Given the description of an element on the screen output the (x, y) to click on. 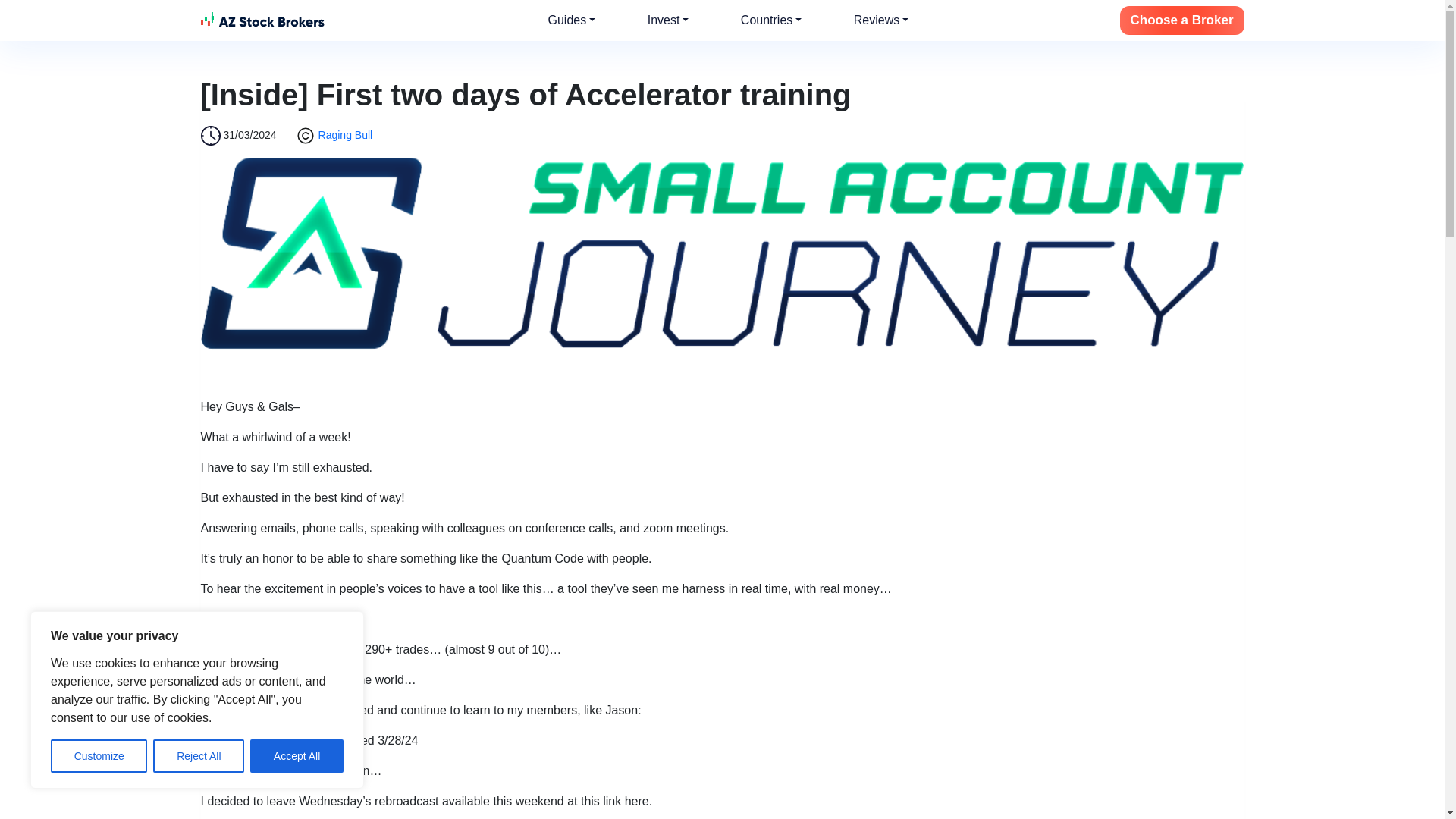
Reject All (198, 756)
Customize (98, 756)
Accept All (296, 756)
Guides (572, 20)
Invest (668, 20)
